Given the description of an element on the screen output the (x, y) to click on. 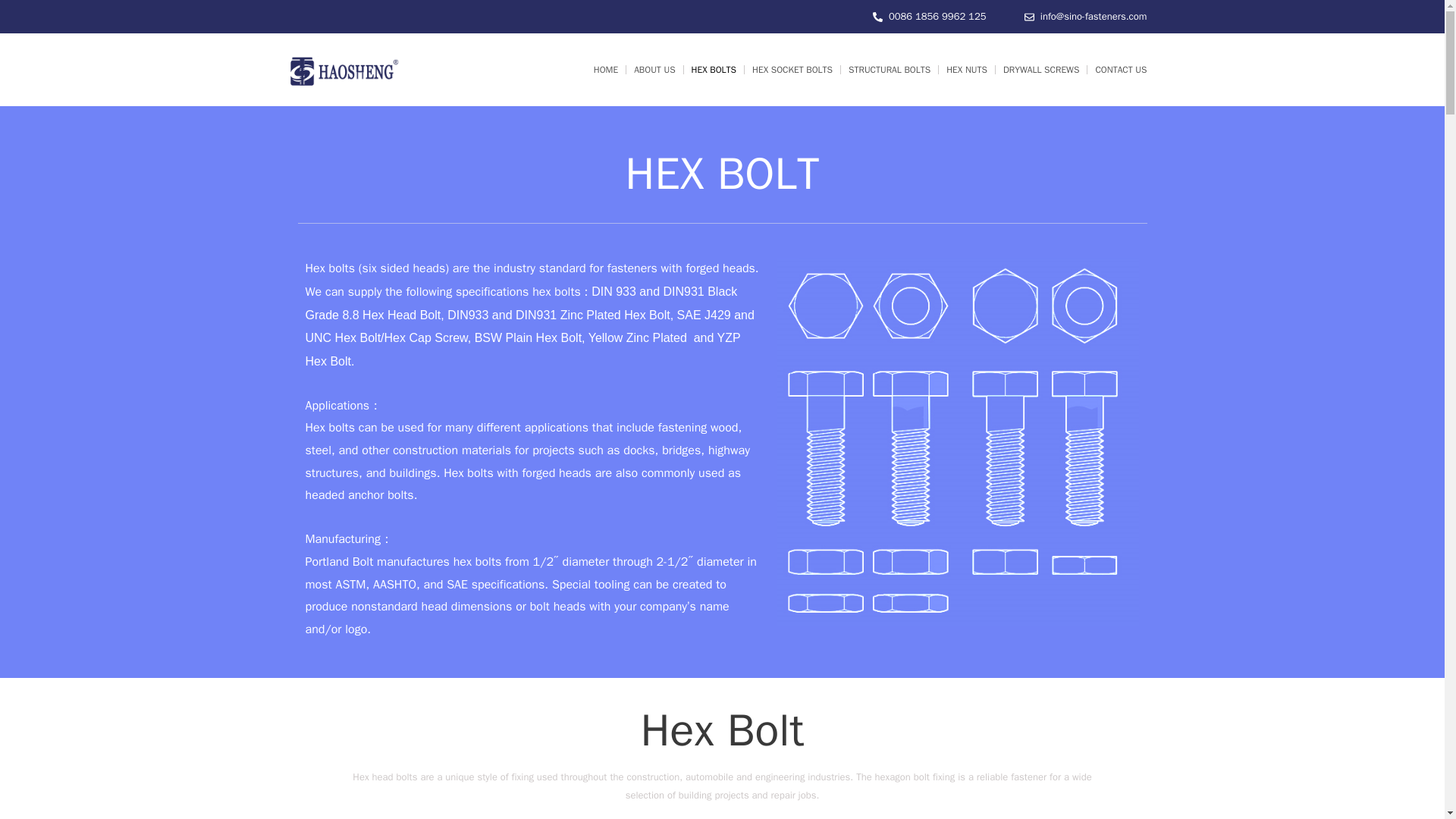
CONTACT US (1120, 69)
HOME (606, 69)
HEX SOCKET BOLTS (792, 69)
0086 1856 9962 125 (929, 16)
HEX NUTS (966, 69)
HEX BOLTS (714, 69)
STRUCTURAL BOLTS (889, 69)
ABOUT US (654, 69)
DRYWALL SCREWS (1040, 69)
